Given the description of an element on the screen output the (x, y) to click on. 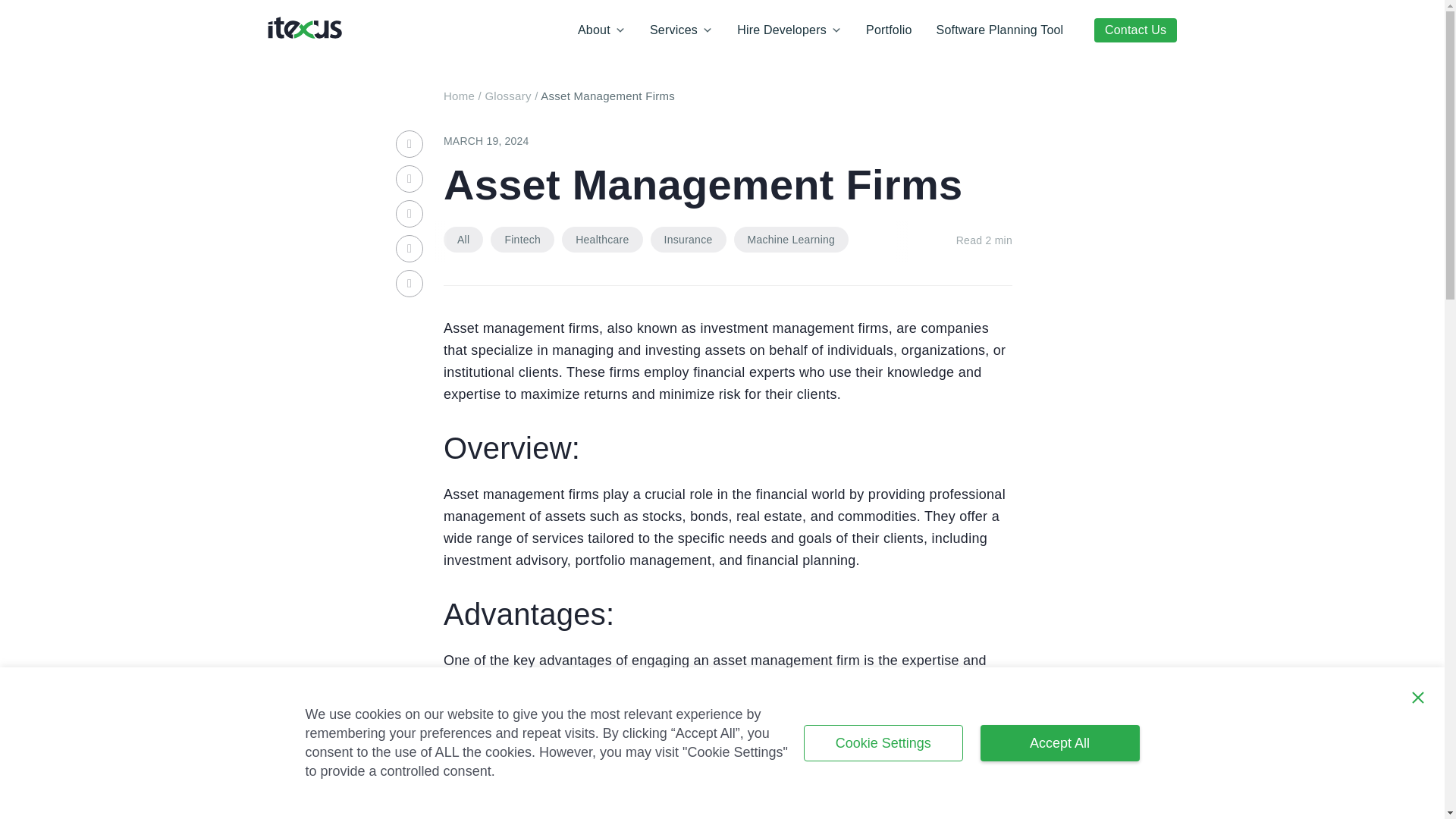
Share in Reddit (409, 248)
Go to Glossary. (507, 95)
Contact Us (1135, 29)
Portfolio (888, 30)
Software Planning Tool (999, 30)
Copy to Clipboard (409, 283)
Share in Linkedin (409, 144)
Share in Twitter (651, 239)
Hire Developers (409, 213)
About (789, 30)
Share in Facebook (601, 30)
Services (409, 178)
